Given the description of an element on the screen output the (x, y) to click on. 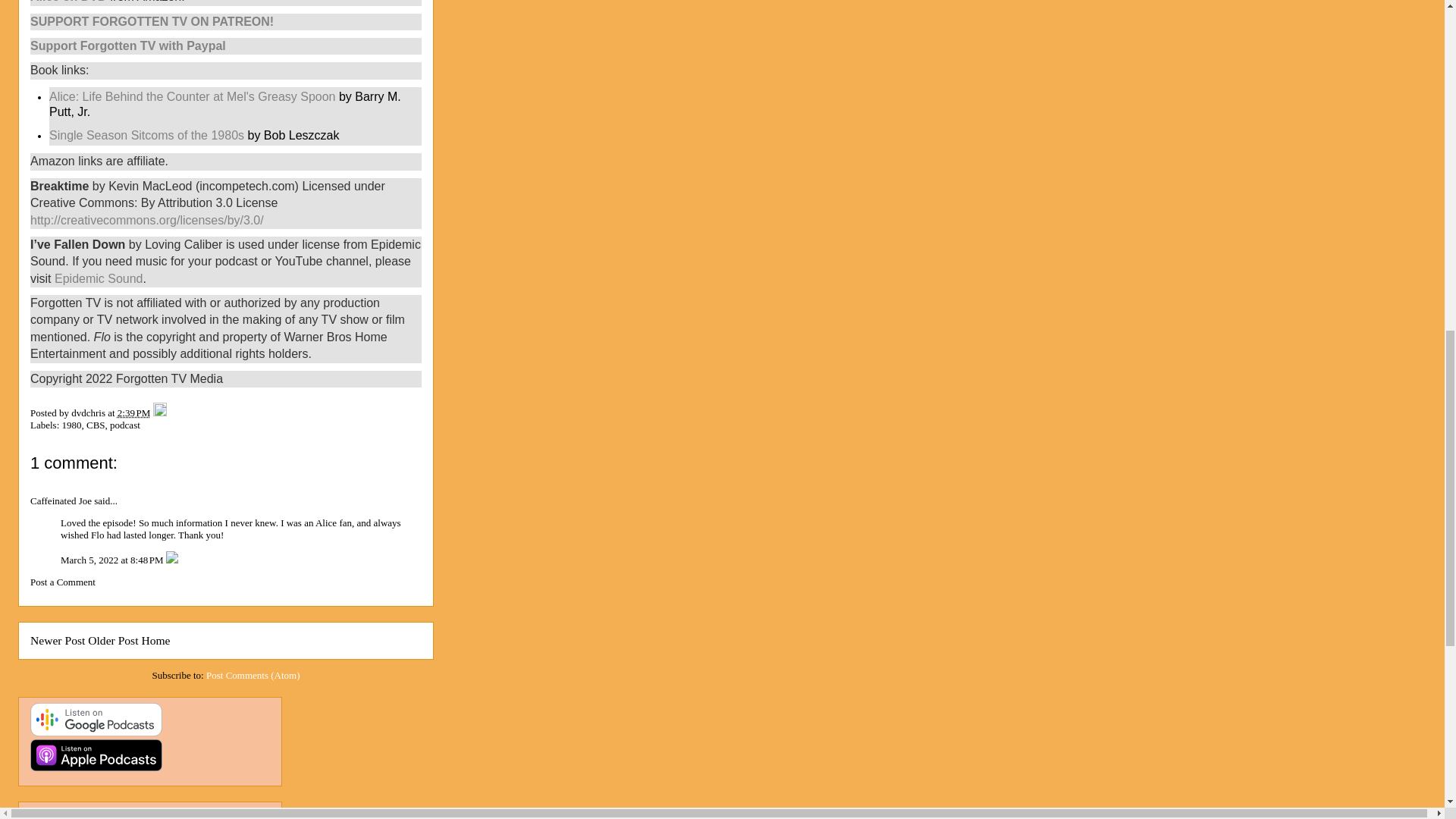
Post a Comment (63, 582)
Older Post (112, 640)
Alice on DVD (68, 1)
Older Post (112, 640)
permanent link (134, 412)
Support Forgotten TV with Paypal (127, 45)
Alice on DVD (68, 1)
Newer Post (57, 640)
Home (155, 640)
